Given the description of an element on the screen output the (x, y) to click on. 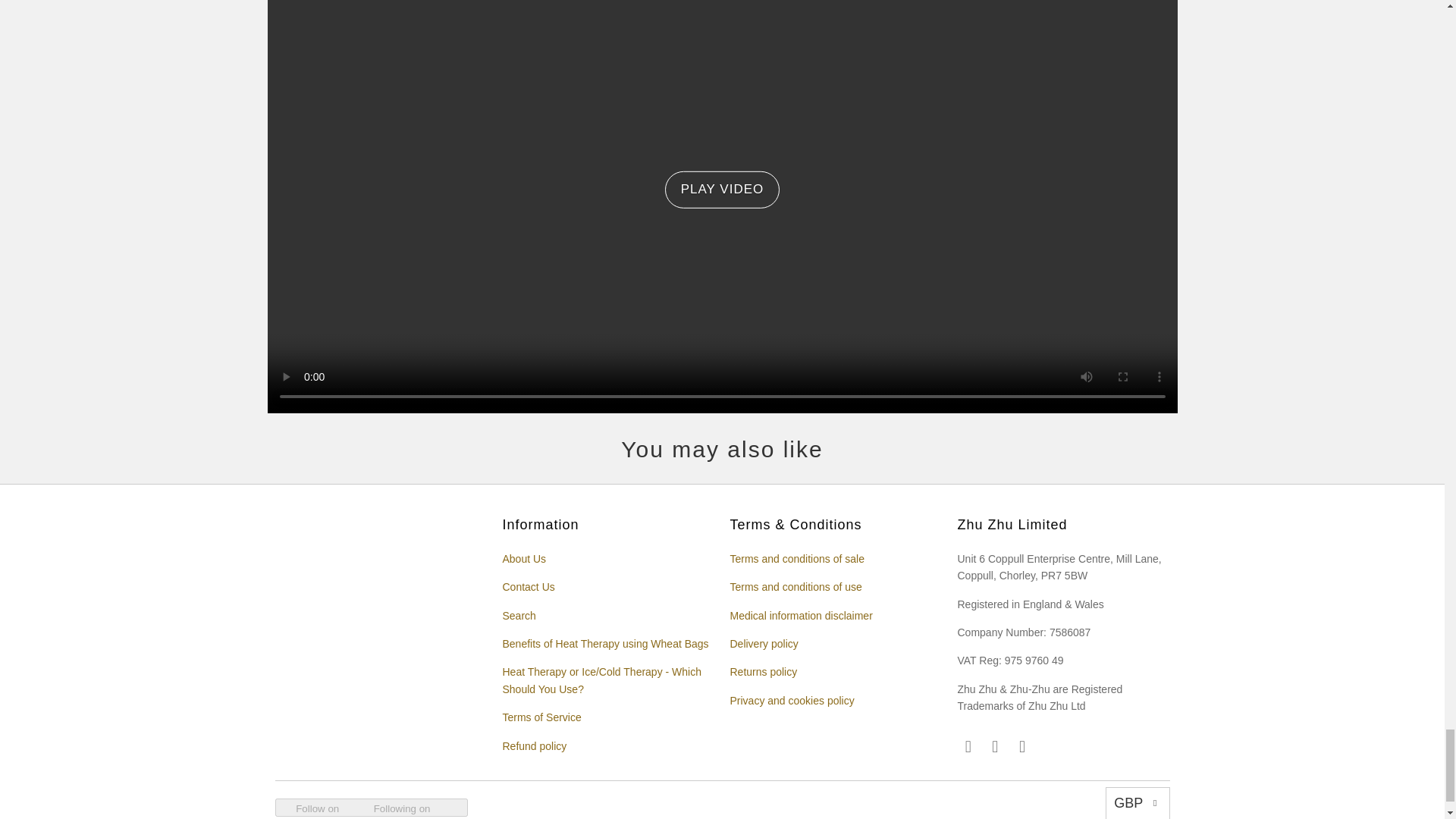
Zhu Zhu on Twitter (1022, 746)
Zhu Zhu on Facebook (995, 746)
Email Zhu Zhu (967, 746)
